Given the description of an element on the screen output the (x, y) to click on. 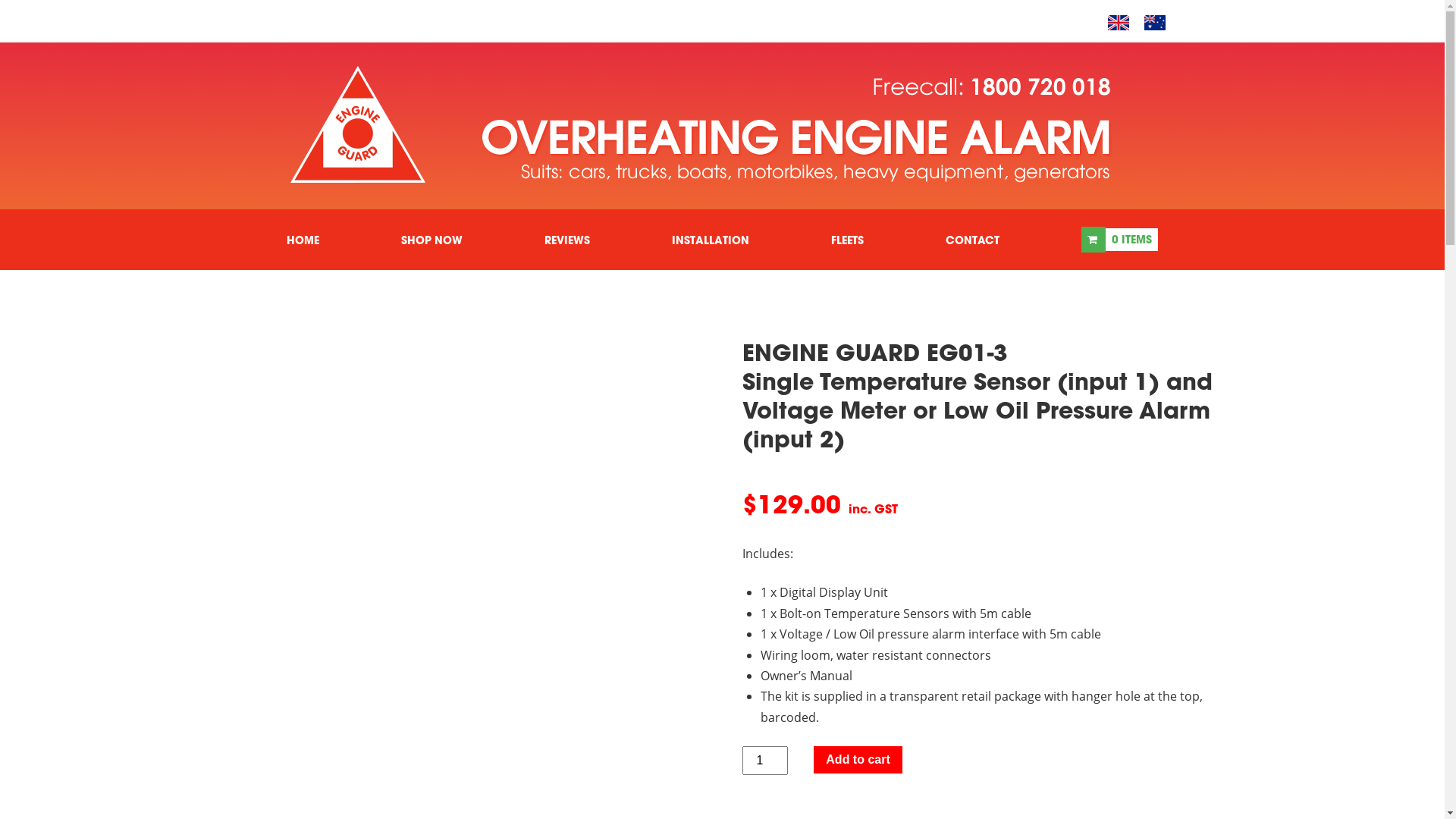
HOME Element type: text (301, 239)
INSTALLATION Element type: text (710, 239)
Add to cart Element type: text (857, 759)
REVIEWS Element type: text (566, 239)
CONTACT Element type: text (972, 239)
SHOP NOW Element type: text (431, 239)
FLEETS Element type: text (847, 239)
0 ITEMS Element type: text (1119, 239)
